Given the description of an element on the screen output the (x, y) to click on. 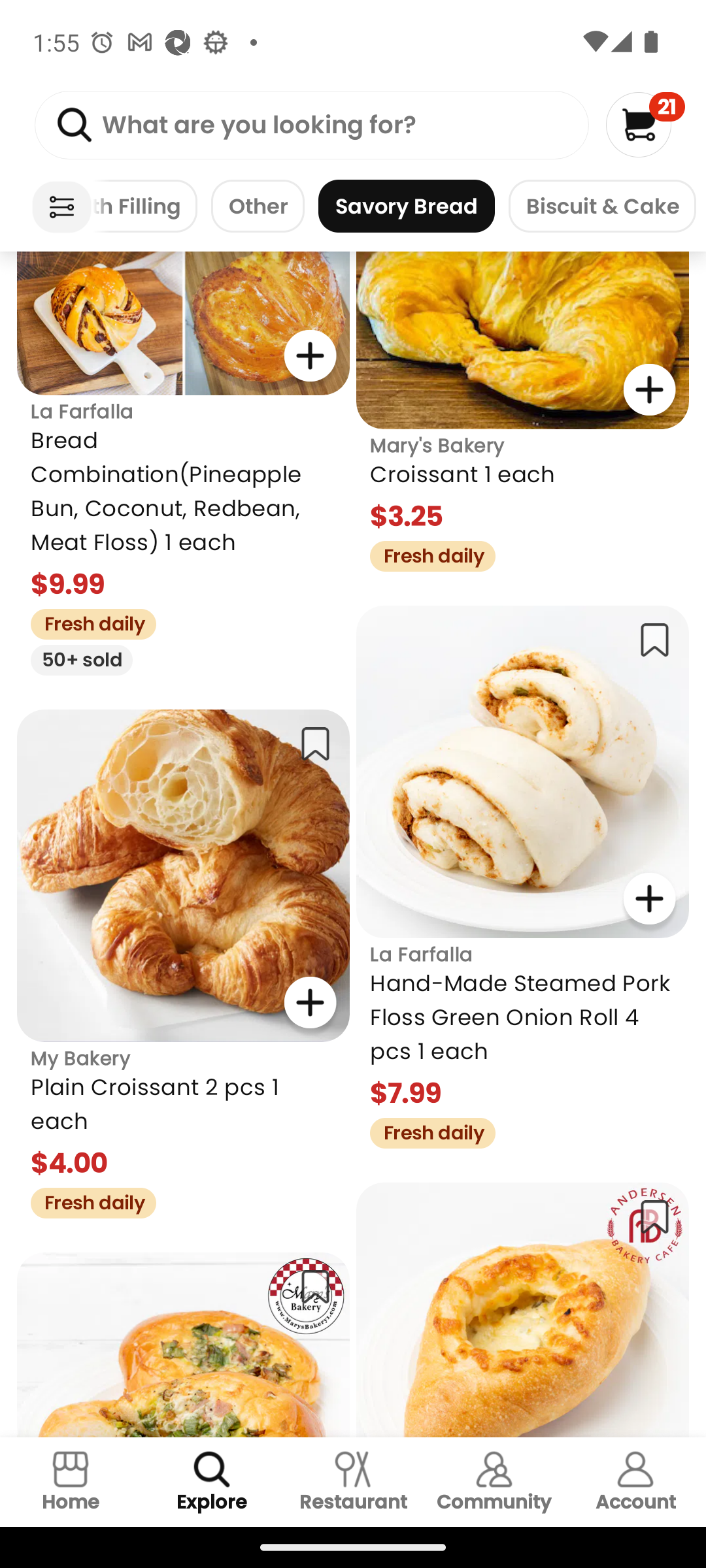
What are you looking for? (311, 124)
21 (644, 124)
With Filling (144, 206)
Other (257, 206)
Savory Bread (406, 206)
Biscuit & Cake (602, 206)
Mary's Bakery Croissant 1 each $3.25 Fresh daily (522, 411)
Fresh daily (425, 554)
Fresh daily (86, 621)
Fresh daily (425, 1130)
Fresh daily (86, 1200)
Home (70, 1482)
Explore (211, 1482)
Restaurant (352, 1482)
Community (493, 1482)
Account (635, 1482)
